Given the description of an element on the screen output the (x, y) to click on. 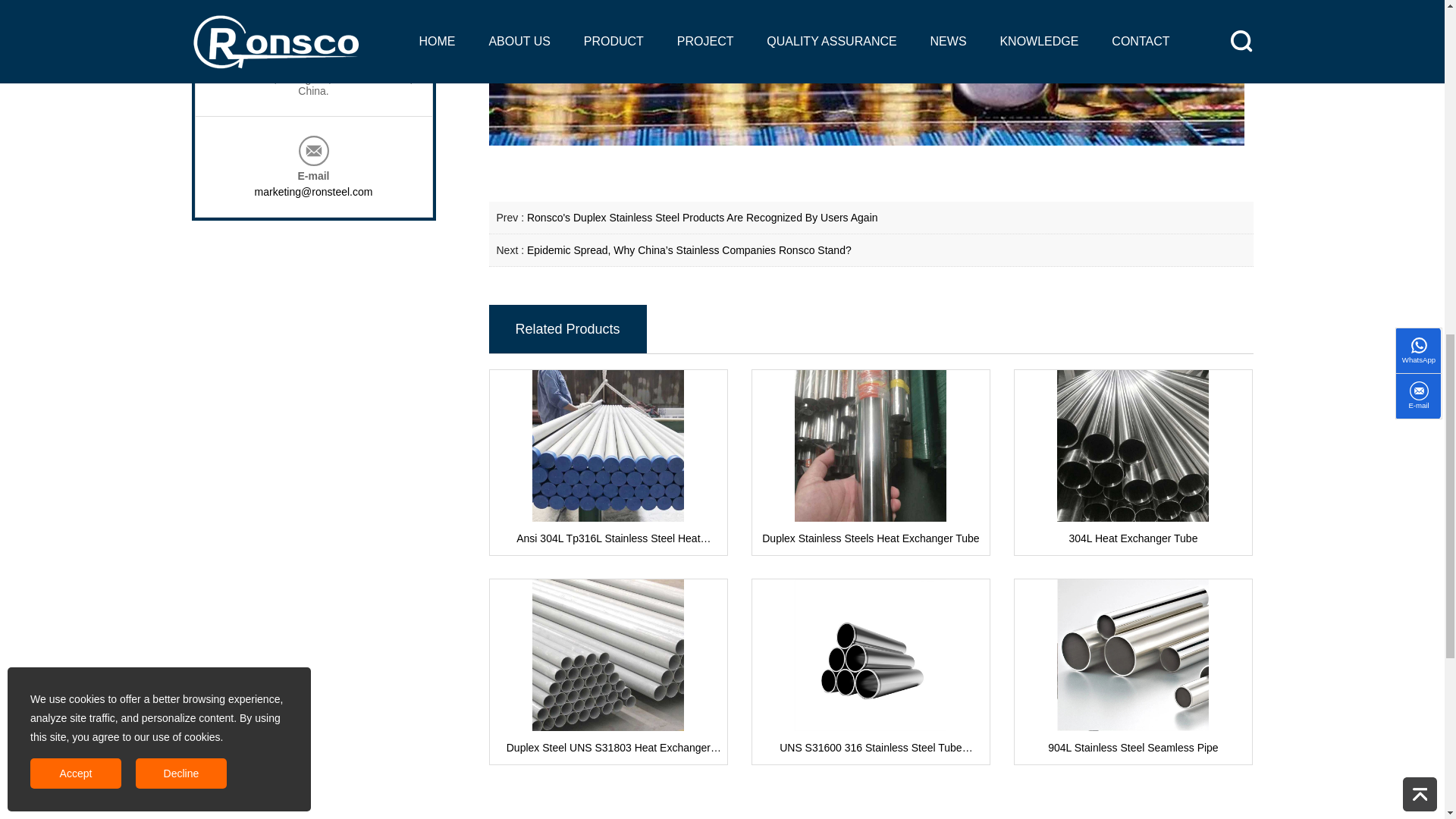
London Metal Exchange Suspended Nickel Trading (865, 72)
flanges,bars,fabrication center forming (702, 217)
profiles,stainless steel pipe ,Stainless Steel (689, 250)
